Given the description of an element on the screen output the (x, y) to click on. 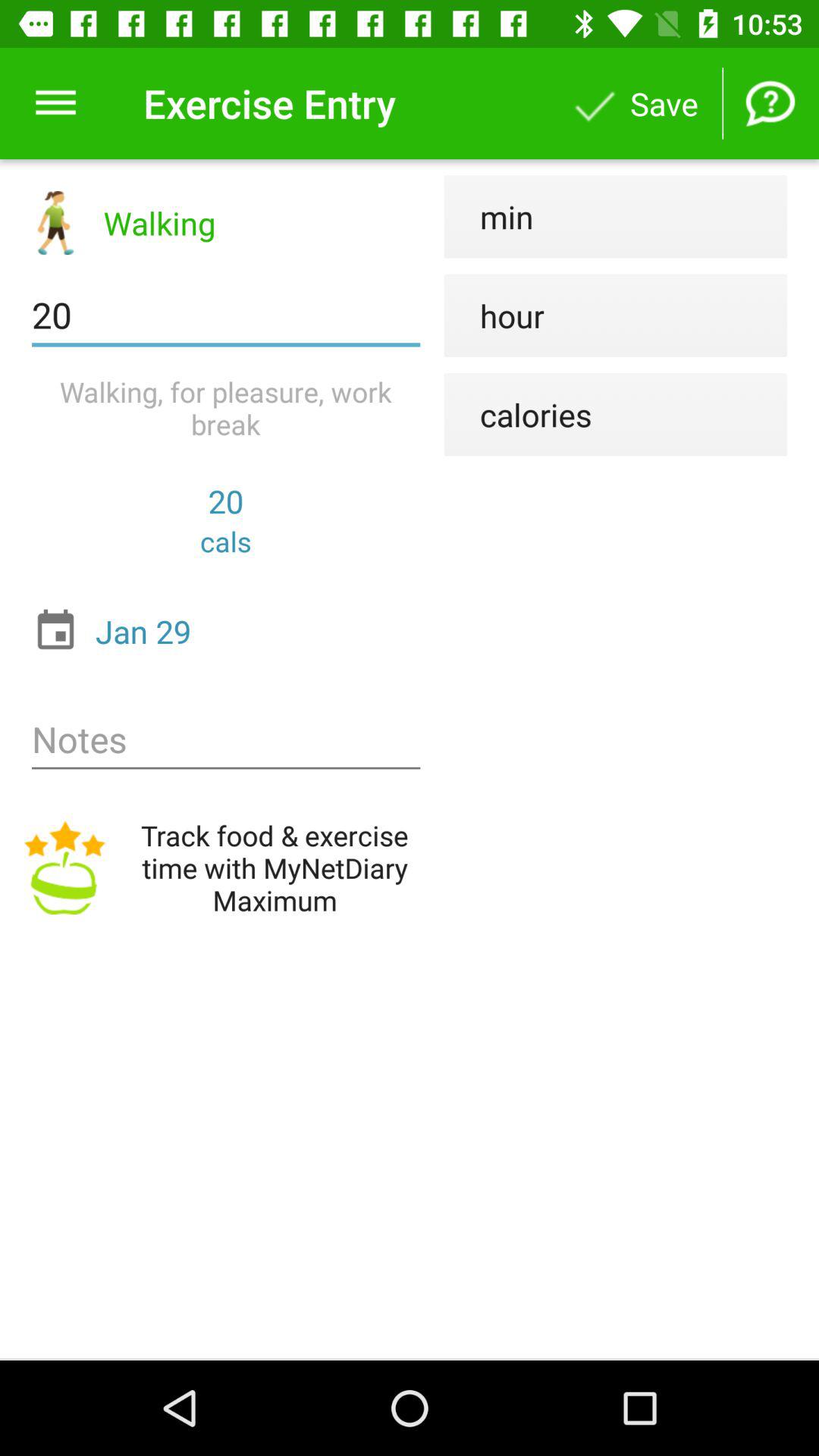
choose icon above the   calories (494, 315)
